Given the description of an element on the screen output the (x, y) to click on. 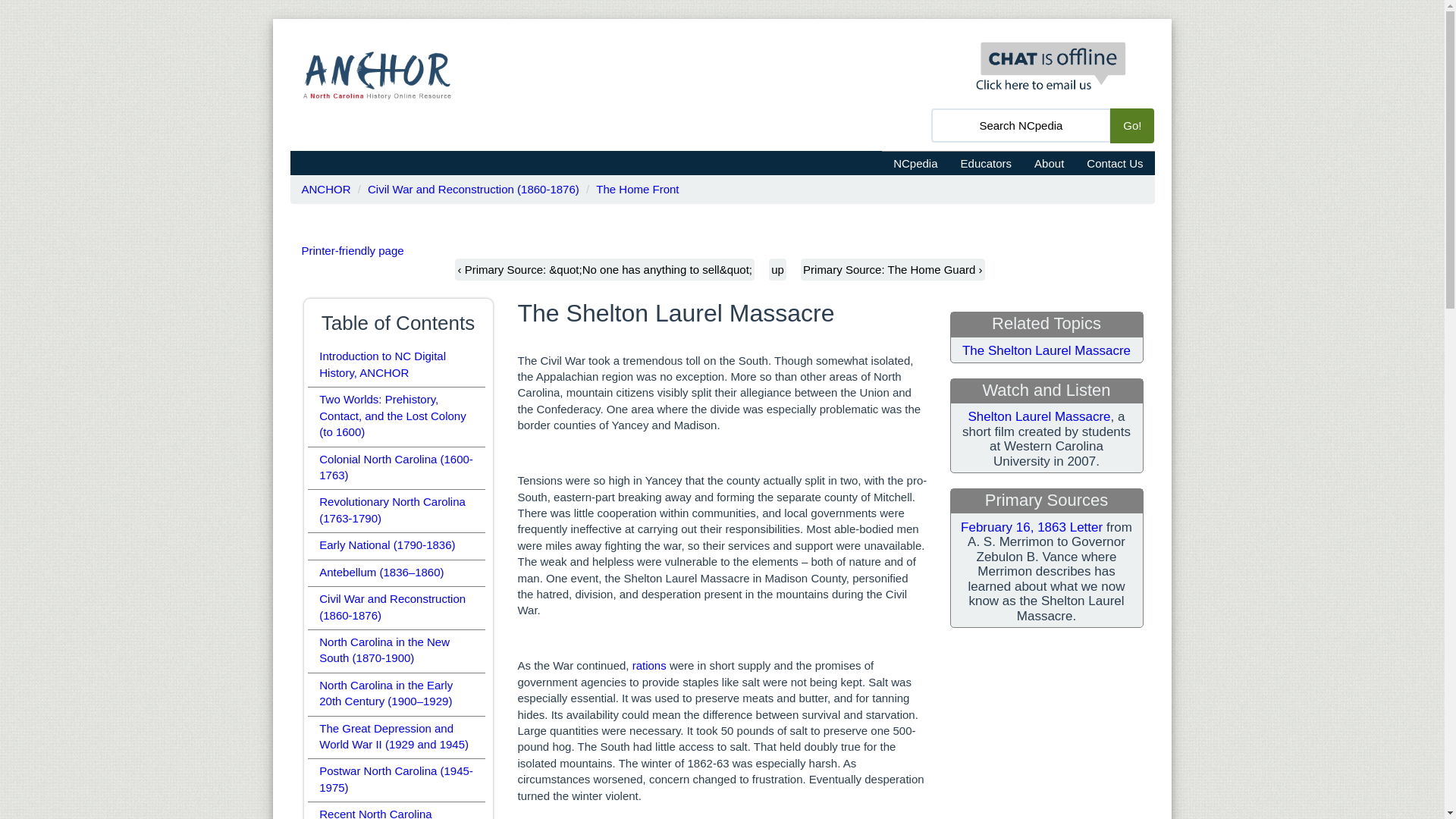
Educators (986, 162)
Link to NCpedia main page (915, 162)
Go to next page (892, 269)
Go! (1131, 125)
Printer-friendly page (352, 250)
The Home Front (636, 188)
About (1049, 162)
Contact Us (1114, 162)
ANCHOR (325, 188)
Display a PDF version of this page. (352, 250)
Go to previous page (604, 269)
NCpedia (915, 162)
Go! (1131, 125)
Go! (1131, 125)
